Given the description of an element on the screen output the (x, y) to click on. 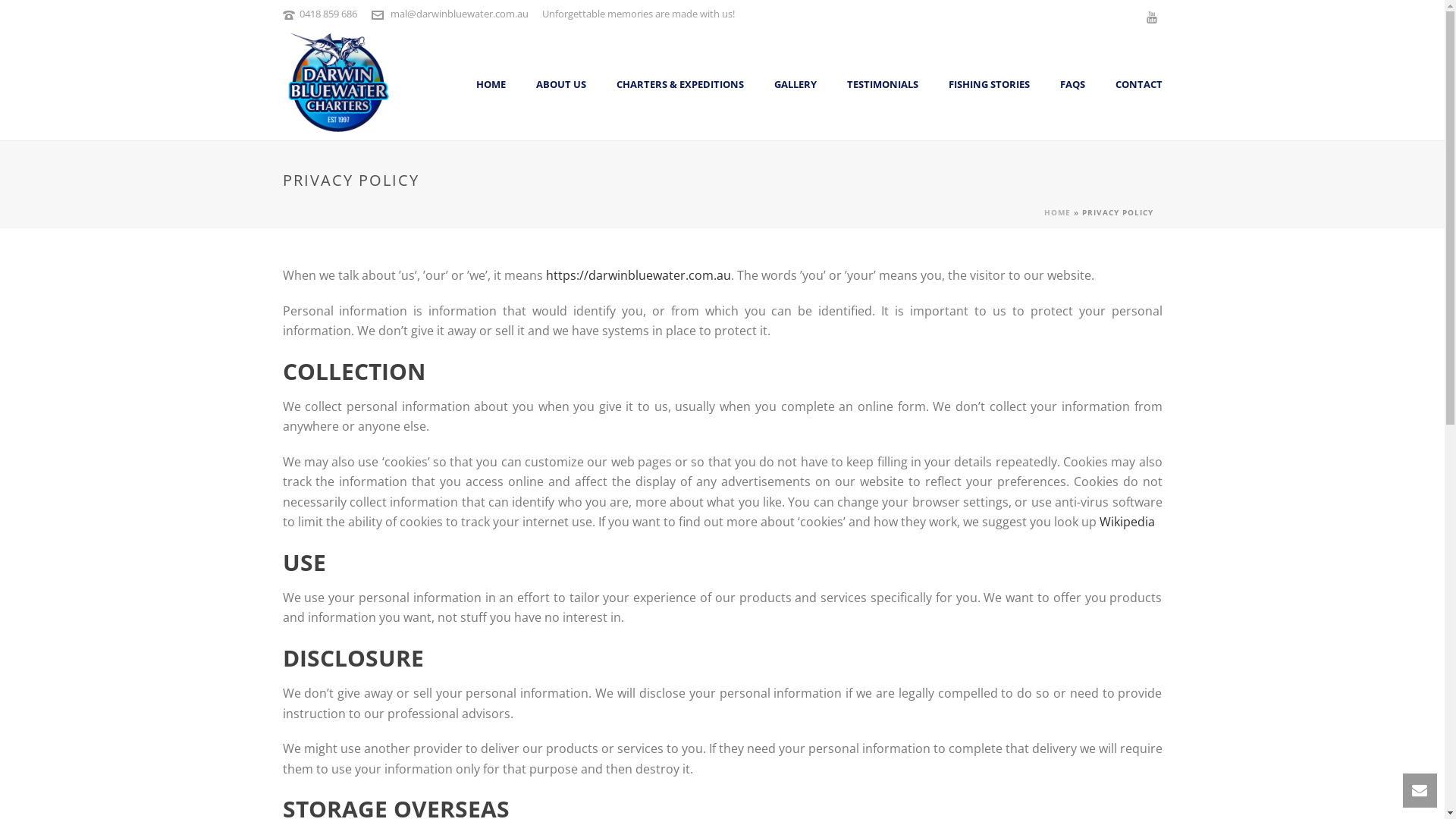
ABOUT US Element type: text (560, 84)
https://darwinbluewater.com.au Element type: text (638, 274)
youtube Element type: hover (1151, 17)
CONTACT Element type: text (1137, 84)
FAQS Element type: text (1072, 84)
TESTIMONIALS Element type: text (881, 84)
GALLERY Element type: text (794, 84)
We fish the places most people only dream about Element type: hover (338, 83)
CHARTERS & EXPEDITIONS Element type: text (679, 84)
HOME Element type: text (1056, 212)
0418 859 686 Element type: text (327, 13)
mal@darwinbluewater.com.au Element type: text (458, 13)
FISHING STORIES Element type: text (988, 84)
HOME Element type: text (490, 84)
Wikipedia Element type: text (1126, 521)
